Given the description of an element on the screen output the (x, y) to click on. 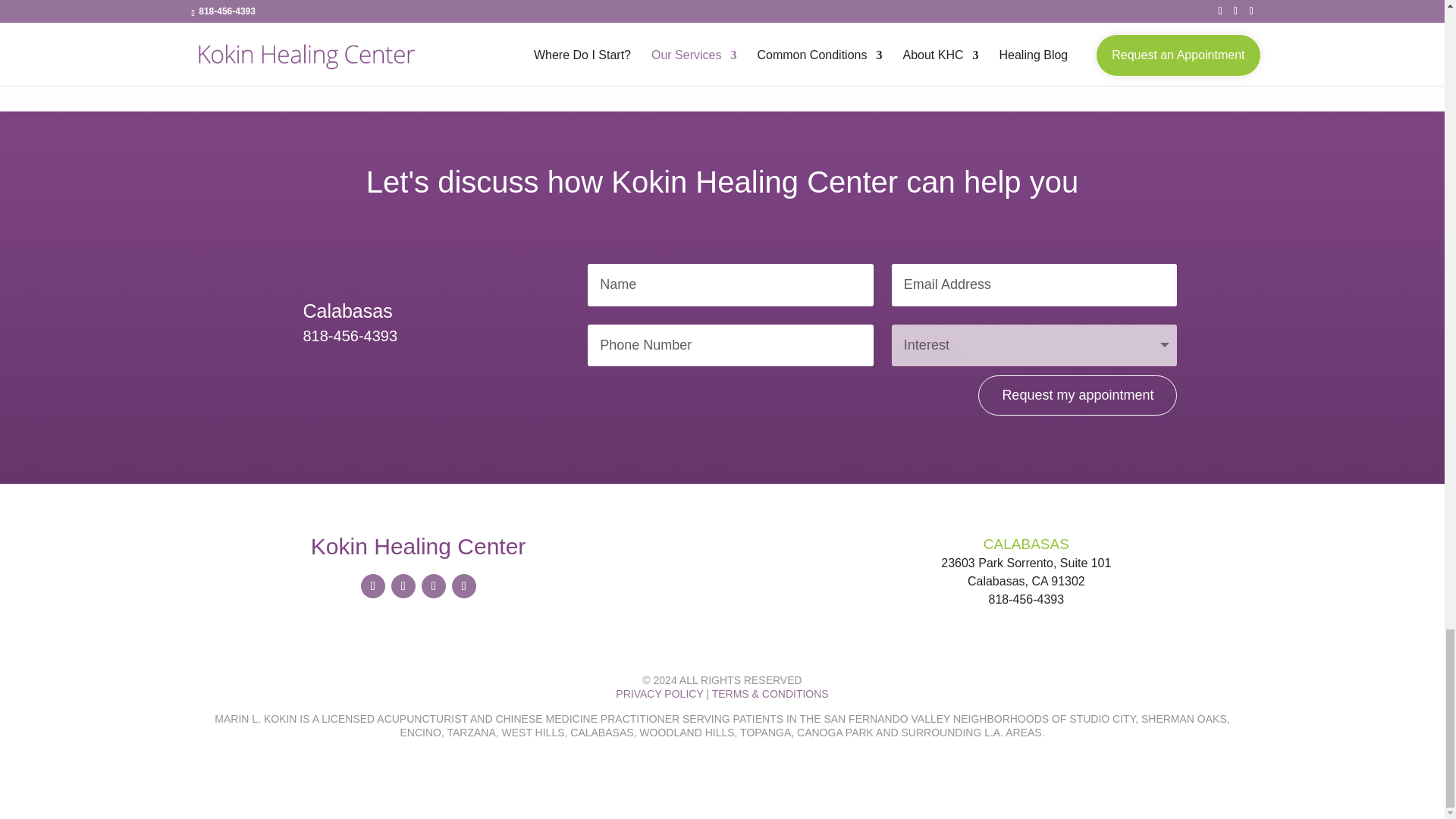
Follow on Facebook (373, 586)
Follow on LinkedIn (463, 586)
Follow on Instagram (433, 586)
Follow on Twitter (402, 586)
